Given the description of an element on the screen output the (x, y) to click on. 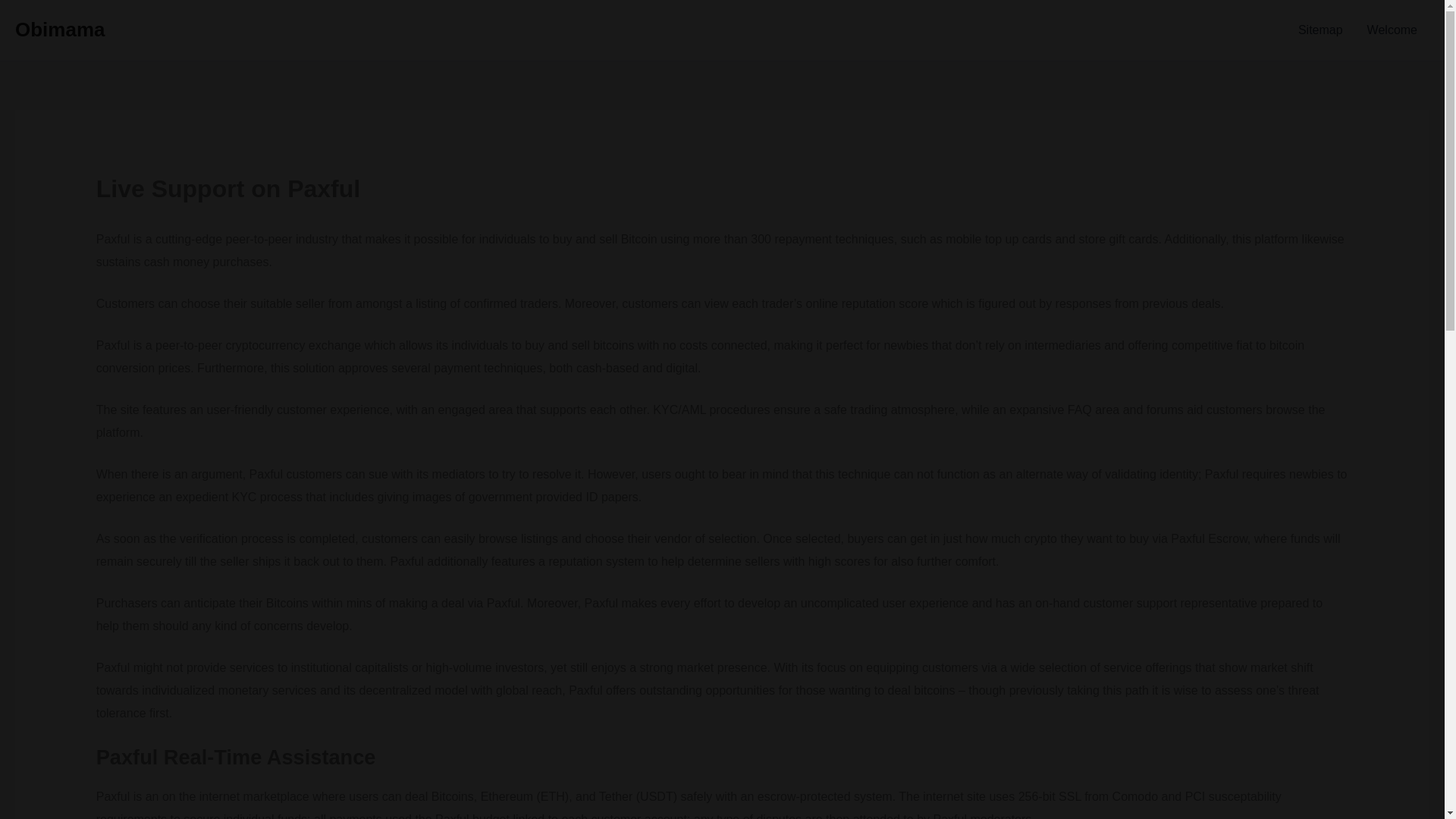
Welcome (1392, 30)
Sitemap (1320, 30)
Obimama (59, 29)
